Given the description of an element on the screen output the (x, y) to click on. 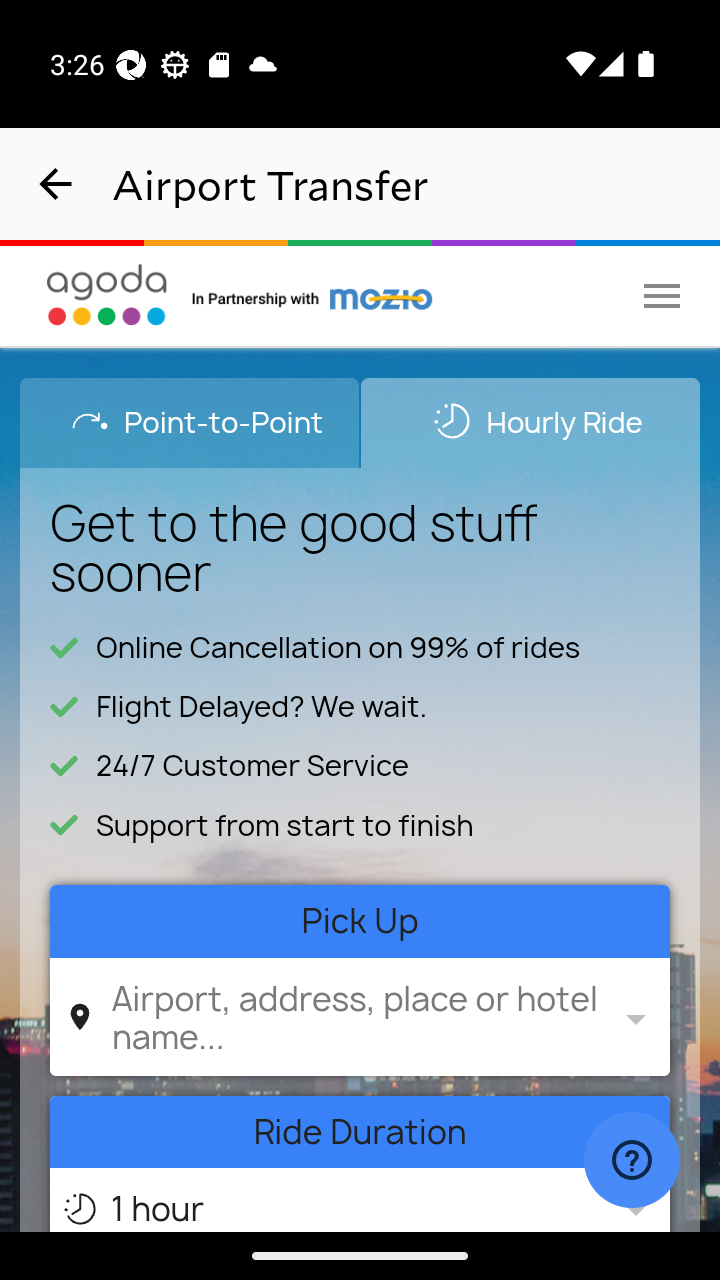
navigation_button (56, 184)
agoda.mozio (313, 295)
menu (661, 295)
Point-to-Point (190, 422)
Hourly Ride (529, 422)
Airport, address, place or hotel name... (355, 1016)
Opens a widget where you can find more information (631, 1162)
1 hour (355, 1203)
